Given the description of an element on the screen output the (x, y) to click on. 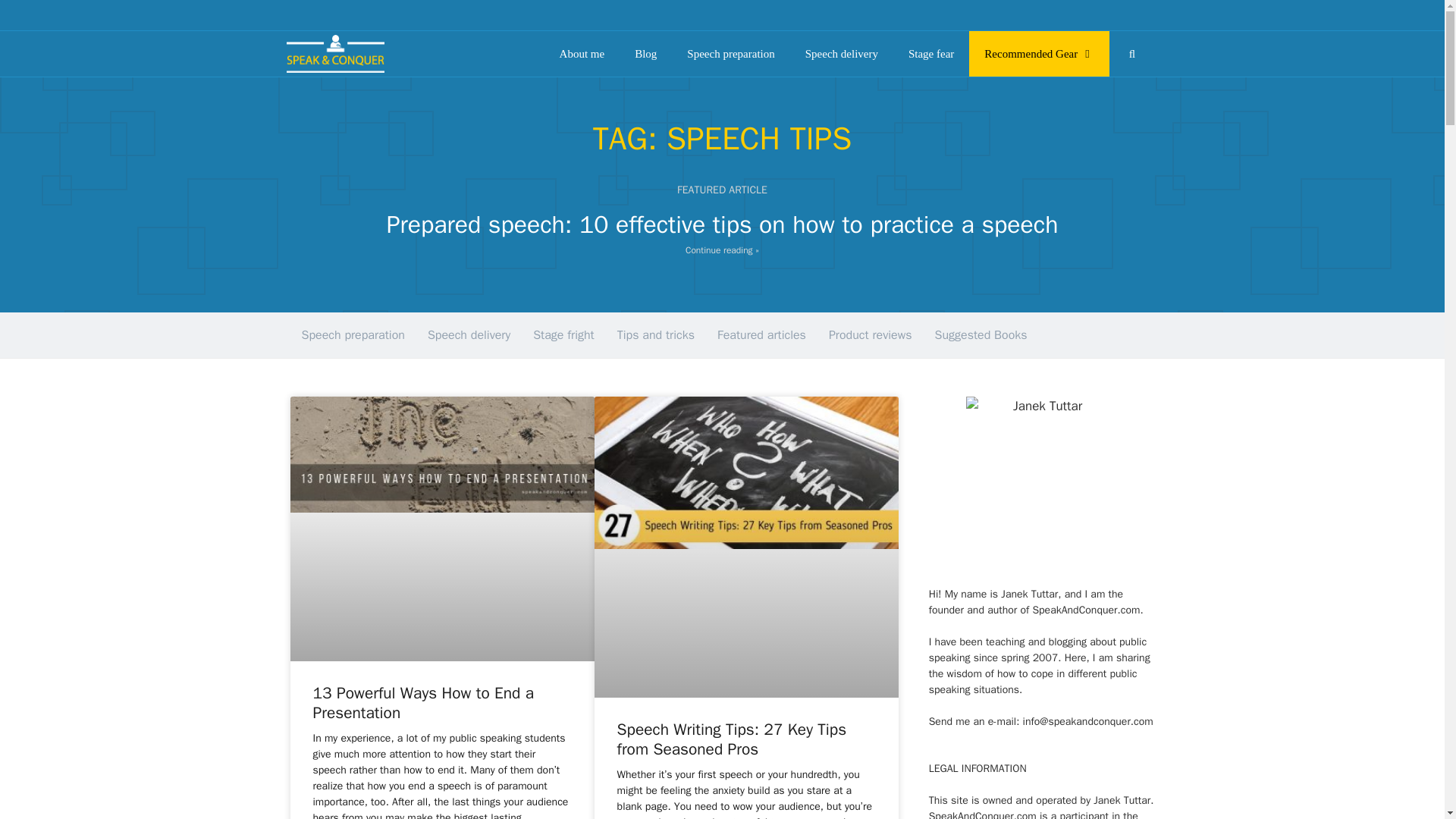
Recommended Gear (1039, 53)
Public speaking tips and tricks (334, 53)
About me (582, 53)
Speech preparation (730, 53)
Speech delivery (841, 53)
Blog (645, 53)
Stage fear (931, 53)
